Given the description of an element on the screen output the (x, y) to click on. 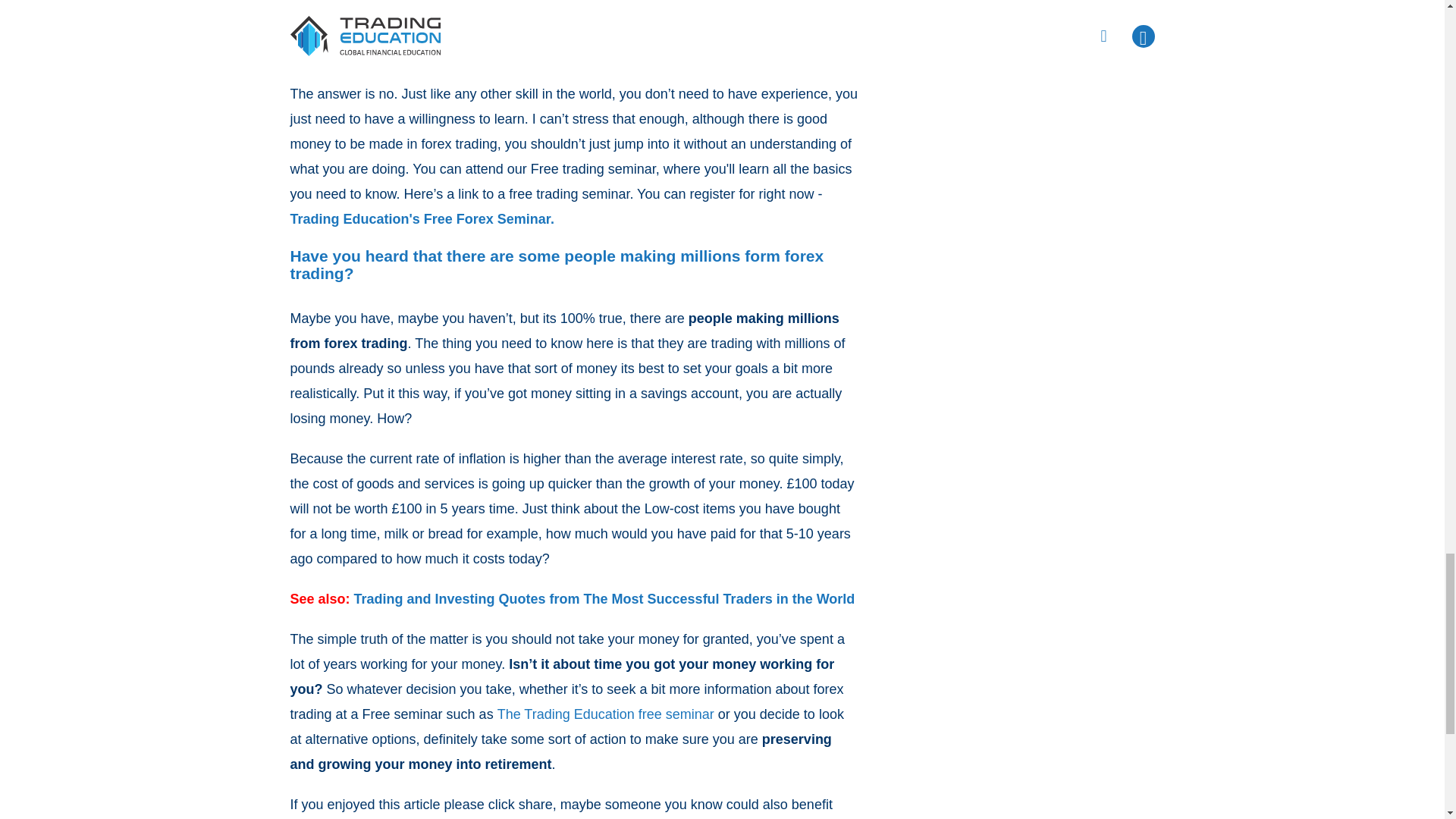
Trading Education's Free Forex Seminar. (421, 219)
The Trading Education free seminar (605, 714)
Inspiring Quotes from The Most Successful Traders (604, 599)
Free Forex Trading Course (421, 219)
Free Forex Trading Course (605, 714)
